Given the description of an element on the screen output the (x, y) to click on. 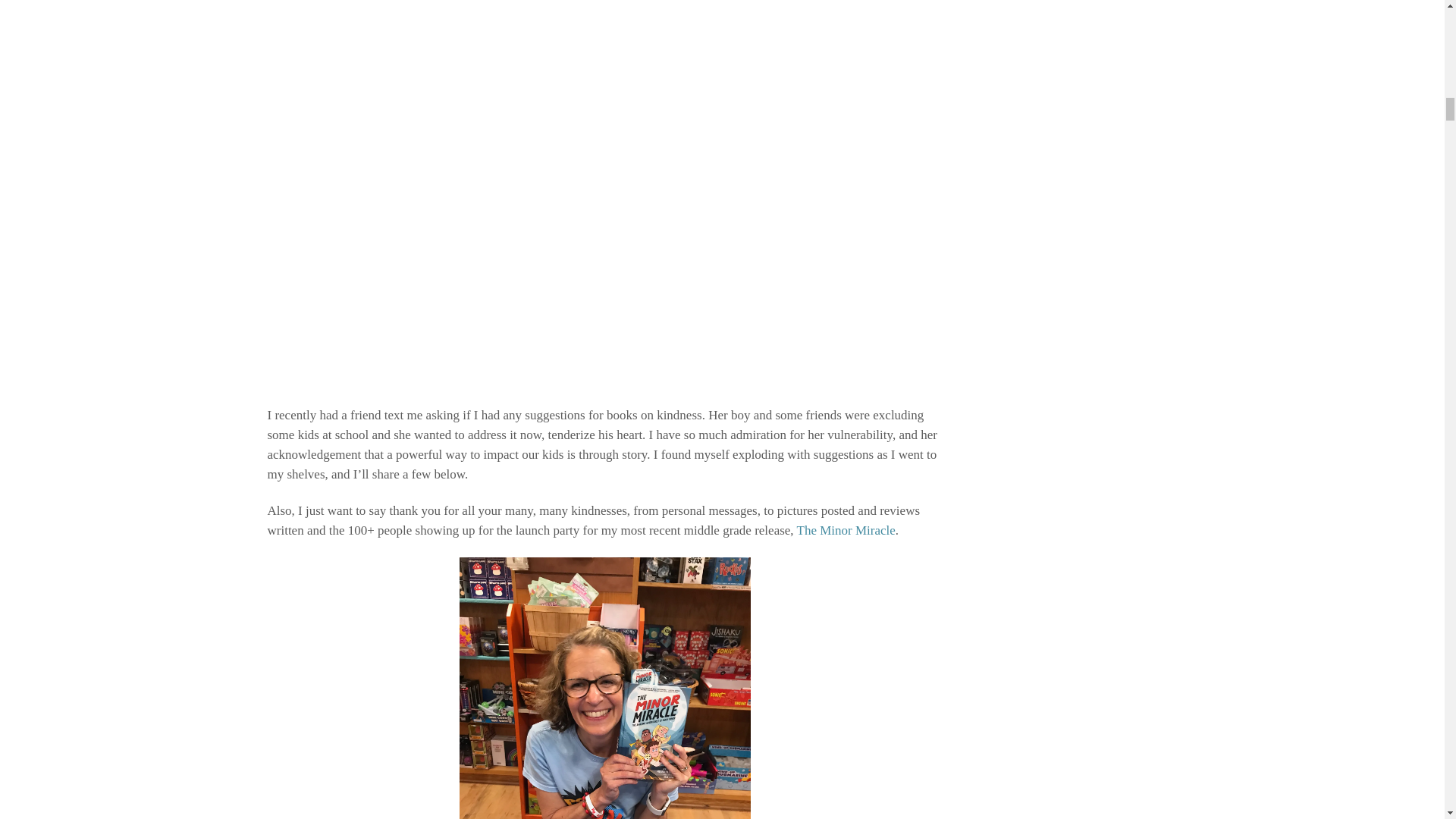
The Minor Miracle (845, 530)
